Given the description of an element on the screen output the (x, y) to click on. 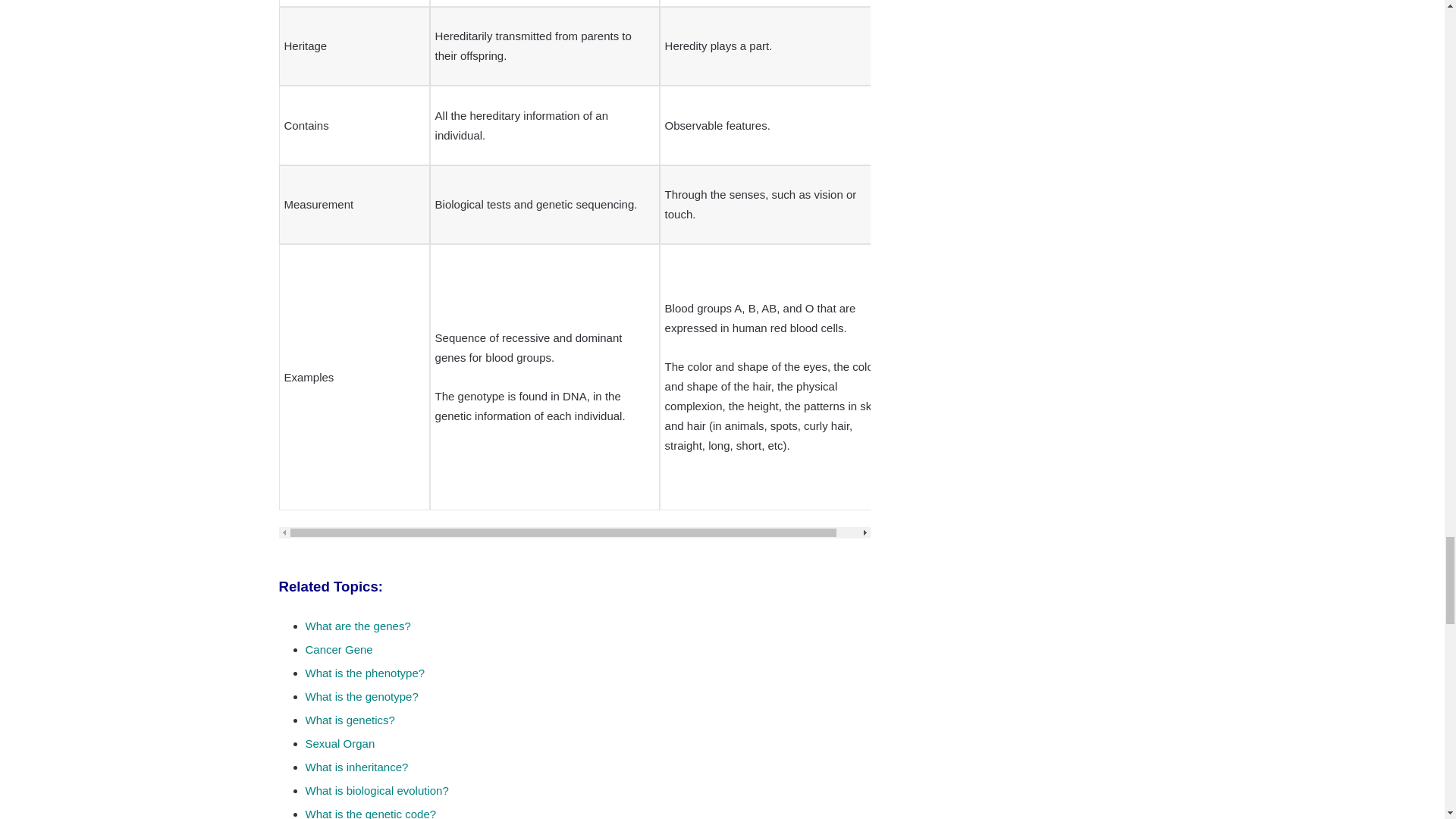
Cancer Gene (338, 649)
Sexual Organ (339, 743)
What are the genes? (357, 625)
What is the phenotype? (364, 672)
What is the genotype? (360, 696)
What is genetics? (349, 719)
What is inheritance? (355, 766)
What is the genetic code? (369, 813)
What is biological evolution? (376, 789)
